Given the description of an element on the screen output the (x, y) to click on. 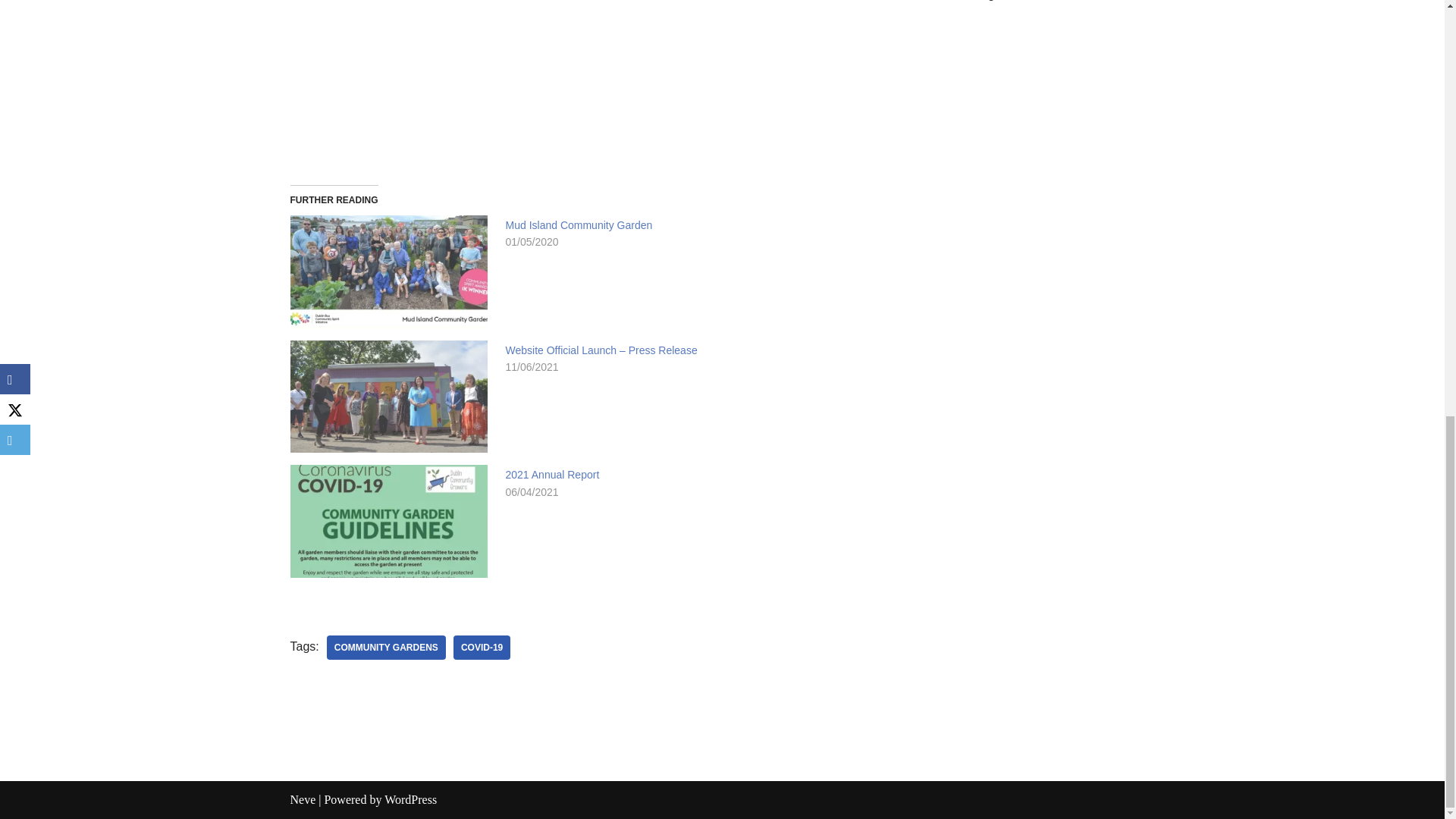
Mud Island Community Garden (578, 224)
Community Gardens (385, 647)
Covid-19 (481, 647)
Growing it yourself (588, 80)
2021 Annual Report (552, 474)
